Given the description of an element on the screen output the (x, y) to click on. 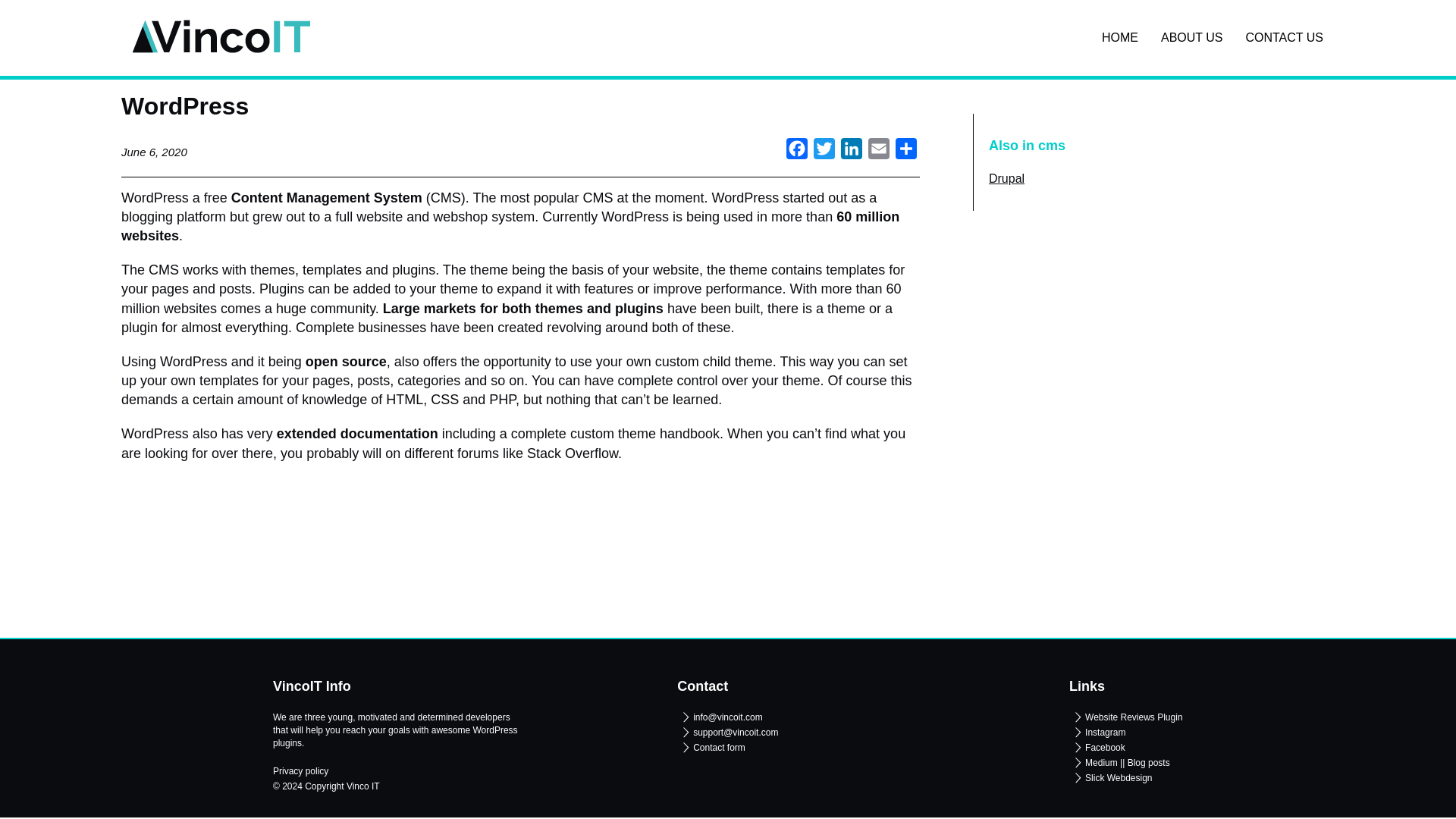
Facebook (796, 152)
ABOUT US (1192, 37)
Instagram (1096, 732)
LinkedIn (851, 152)
Facebook (796, 152)
Email (878, 152)
Drupal (1026, 178)
Slick Webdesign (1110, 777)
CONTACT US (1284, 37)
Website Reviews Plugin (1125, 716)
